Given the description of an element on the screen output the (x, y) to click on. 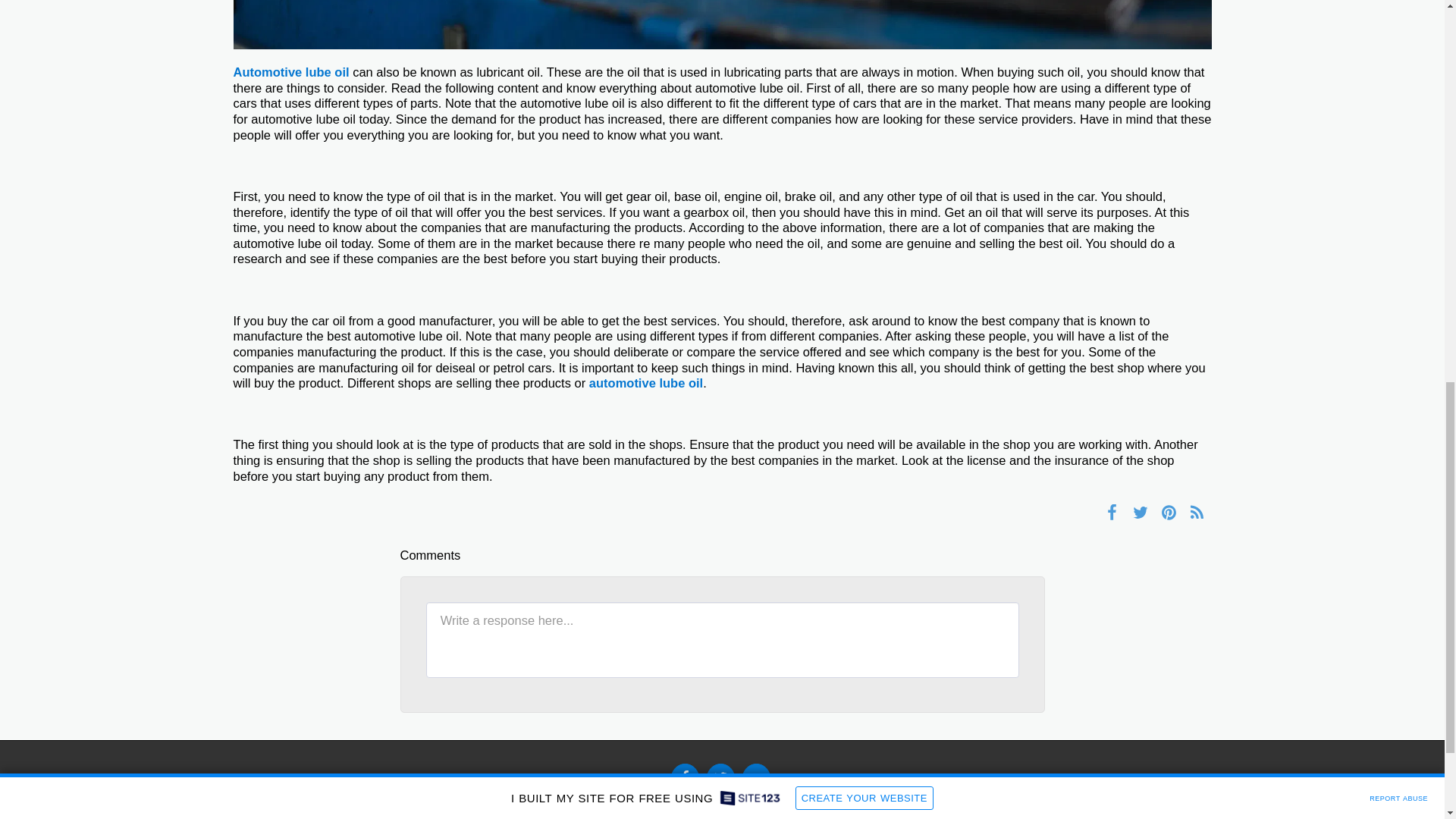
Pin it (1168, 511)
Share on Facebook (1111, 511)
Tweet (1139, 511)
Automotive lube oil (290, 71)
RSS (1196, 511)
Home (706, 810)
Blog (741, 810)
automotive lube oil (646, 382)
